Given the description of an element on the screen output the (x, y) to click on. 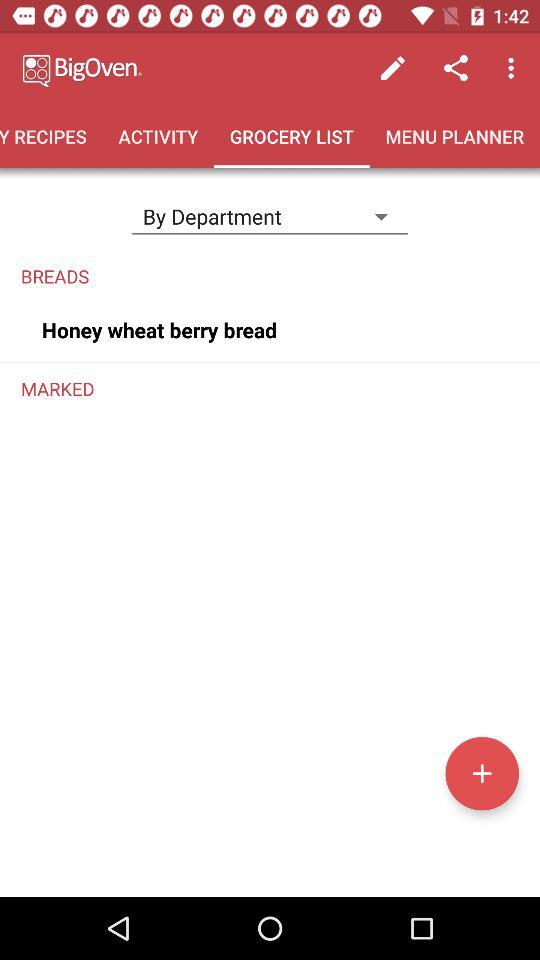
add item in grocery list (482, 773)
